Given the description of an element on the screen output the (x, y) to click on. 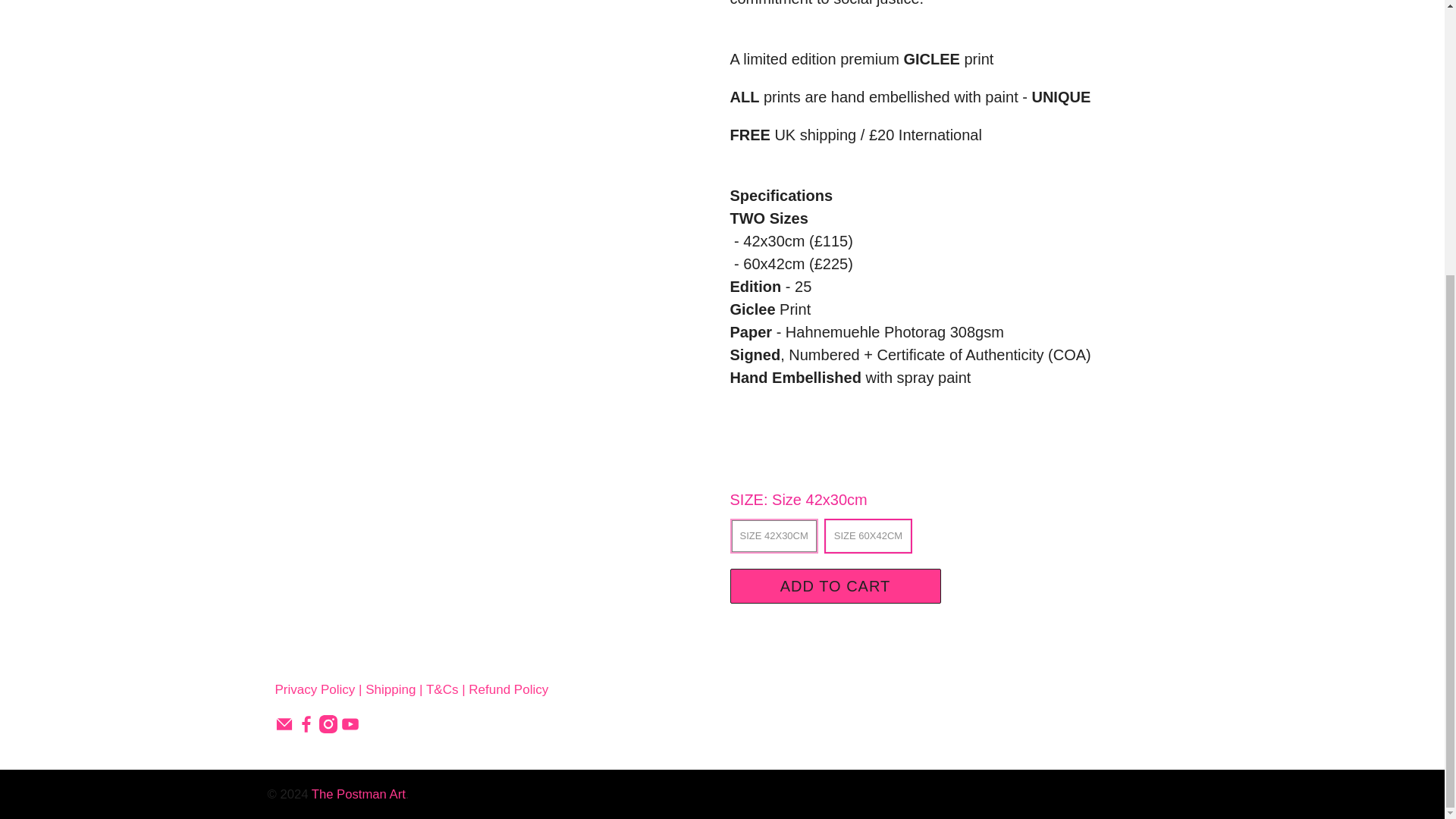
The Postman Art on YouTube (349, 728)
Refund Policy (508, 689)
Shipping Policy (389, 689)
The Postman Art on Facebook (306, 728)
Email The Postman Art (283, 728)
Privacy Policy (315, 689)
The Postman Art on Instagram (327, 728)
Terms of Service (442, 689)
